Given the description of an element on the screen output the (x, y) to click on. 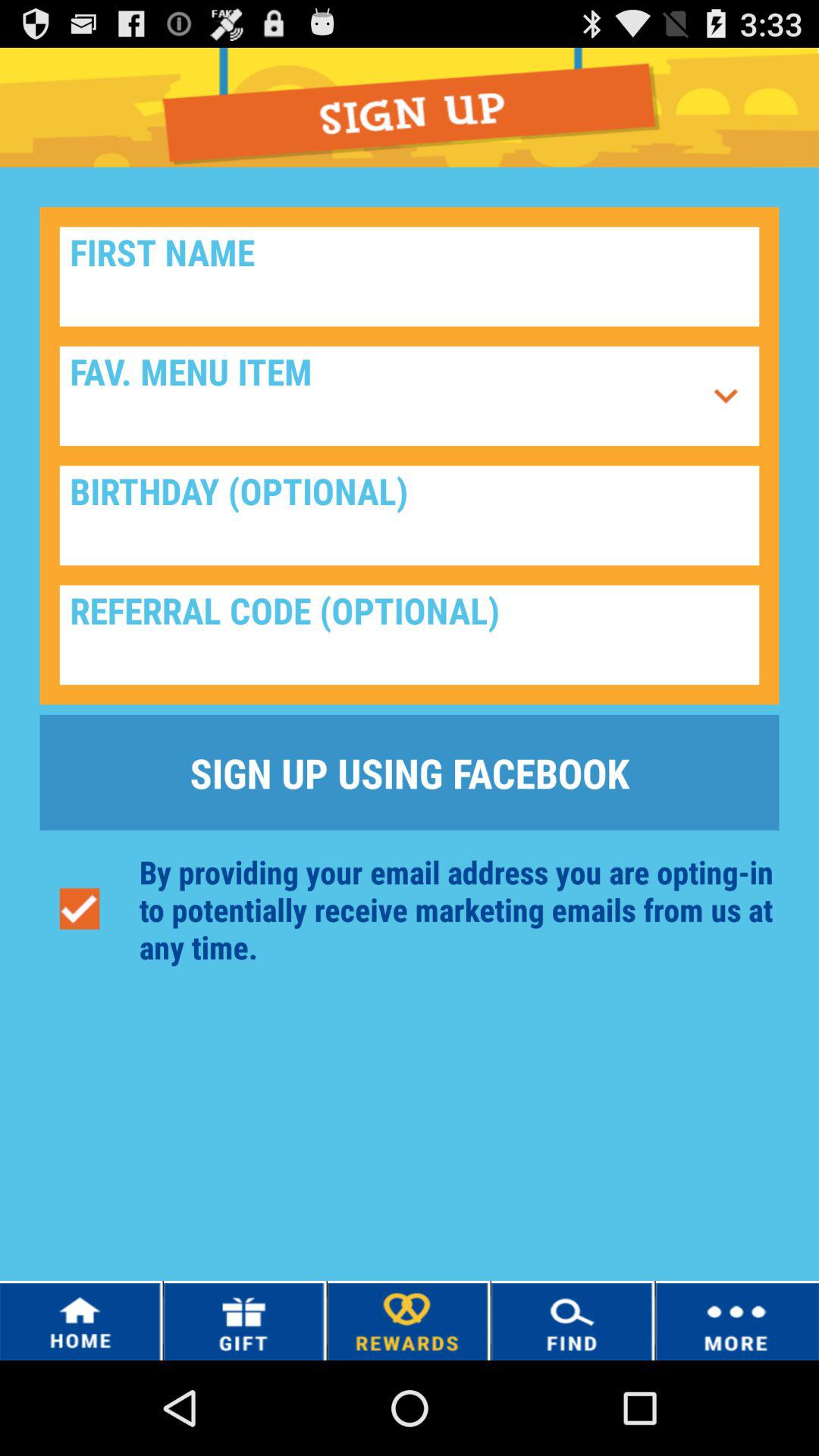
click the icon next to the fav. menu item (725, 395)
